Given the description of an element on the screen output the (x, y) to click on. 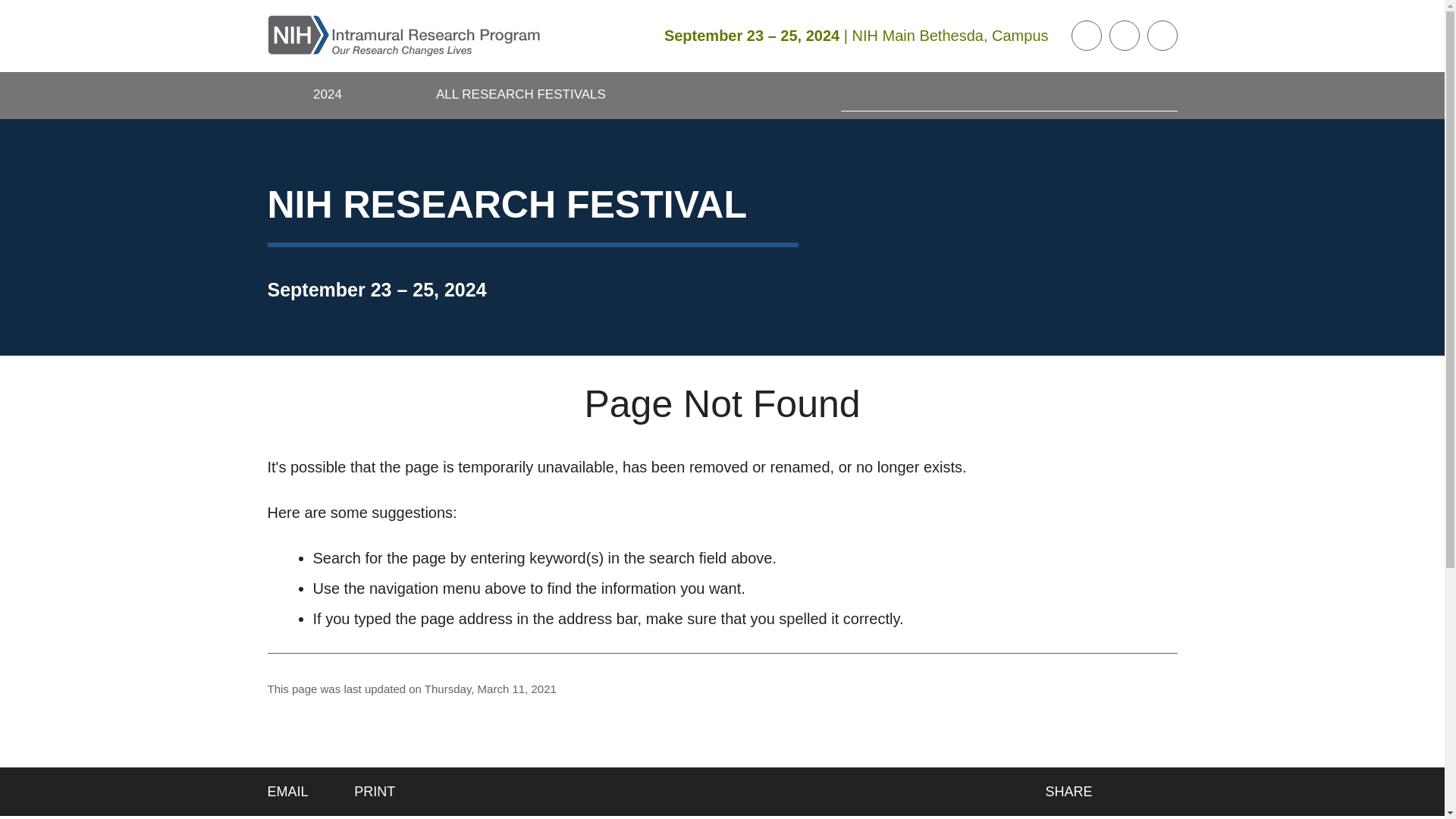
Skip to main content (11, 11)
2024 (327, 95)
2024 NIH Research Festival (327, 95)
